Given the description of an element on the screen output the (x, y) to click on. 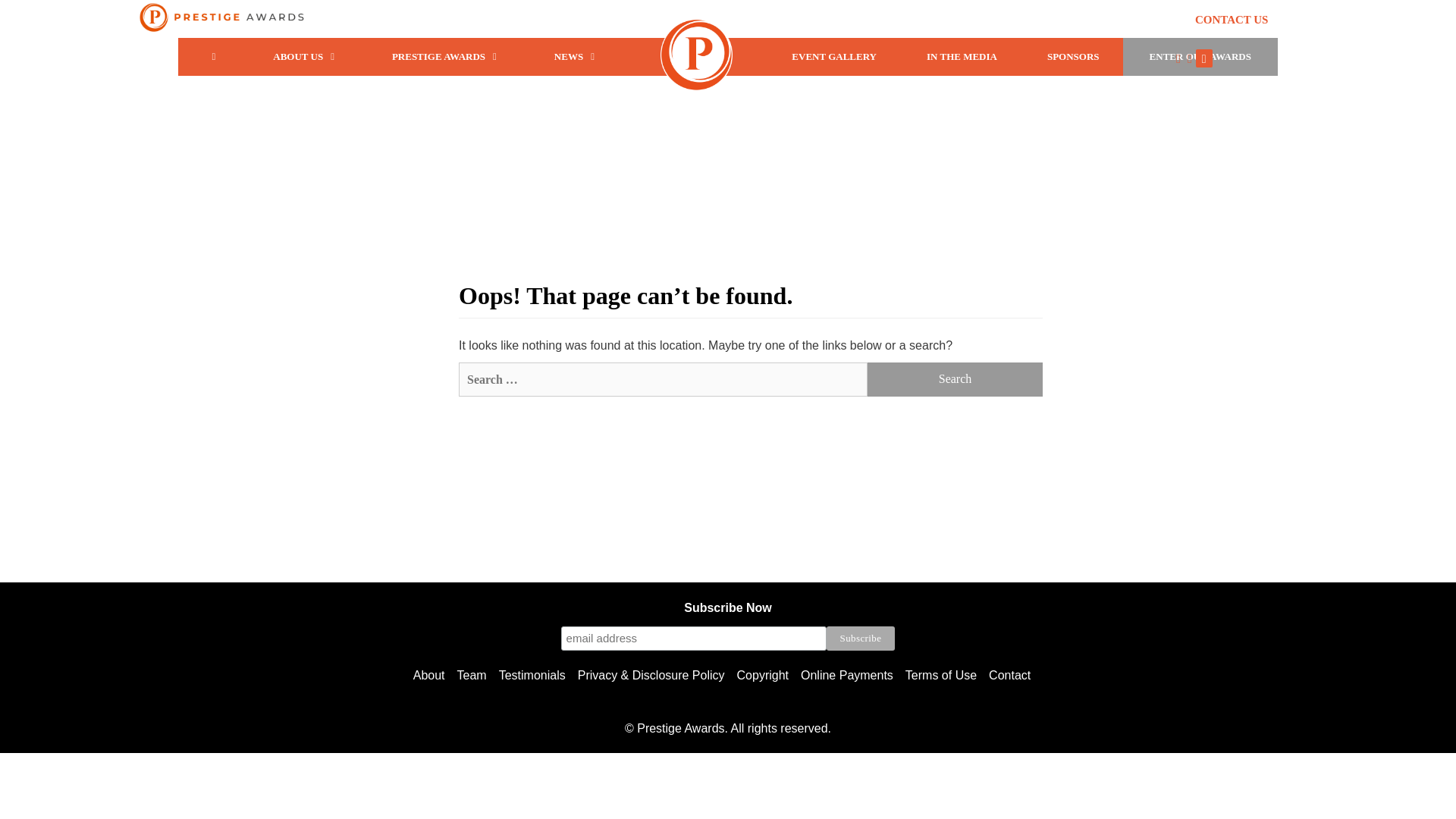
ABOUT US (307, 56)
PRESTIGE AWARDS (448, 56)
Instagram (1178, 58)
Facebook (1203, 58)
Subscribe (861, 638)
Twitter (1190, 58)
Search (954, 379)
Search (954, 379)
CONTACT US (1237, 19)
